Given the description of an element on the screen output the (x, y) to click on. 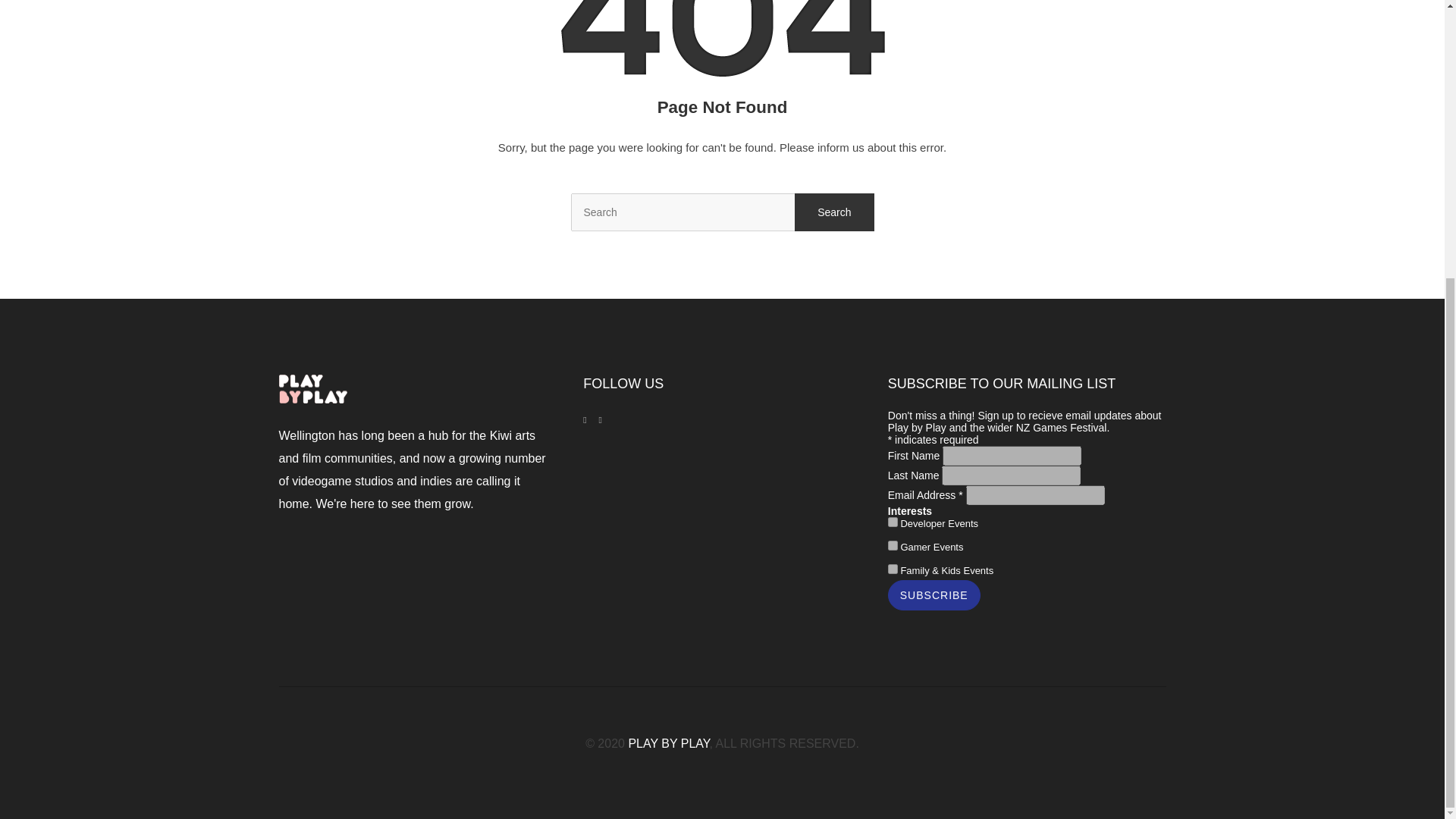
Subscribe (933, 594)
16 (893, 569)
8 (893, 545)
4 (893, 521)
Search (833, 211)
